Given the description of an element on the screen output the (x, y) to click on. 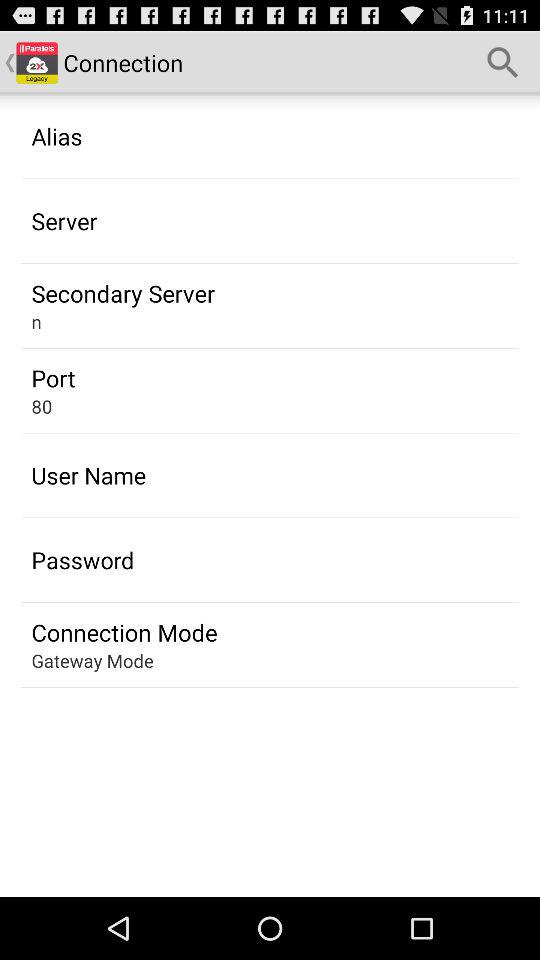
select item below the port item (41, 406)
